Given the description of an element on the screen output the (x, y) to click on. 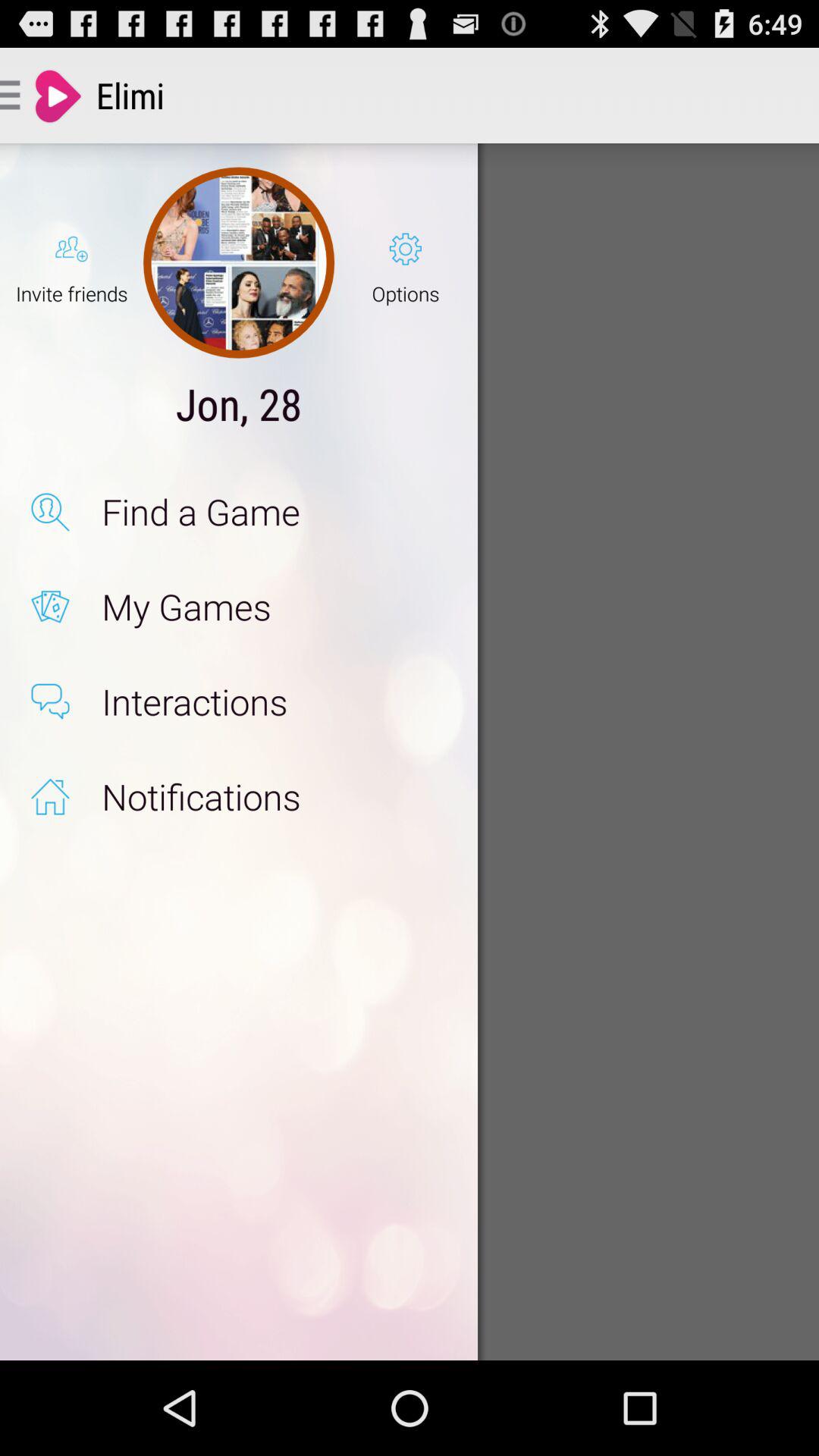
press the icon next to the invite friends icon (238, 262)
